Given the description of an element on the screen output the (x, y) to click on. 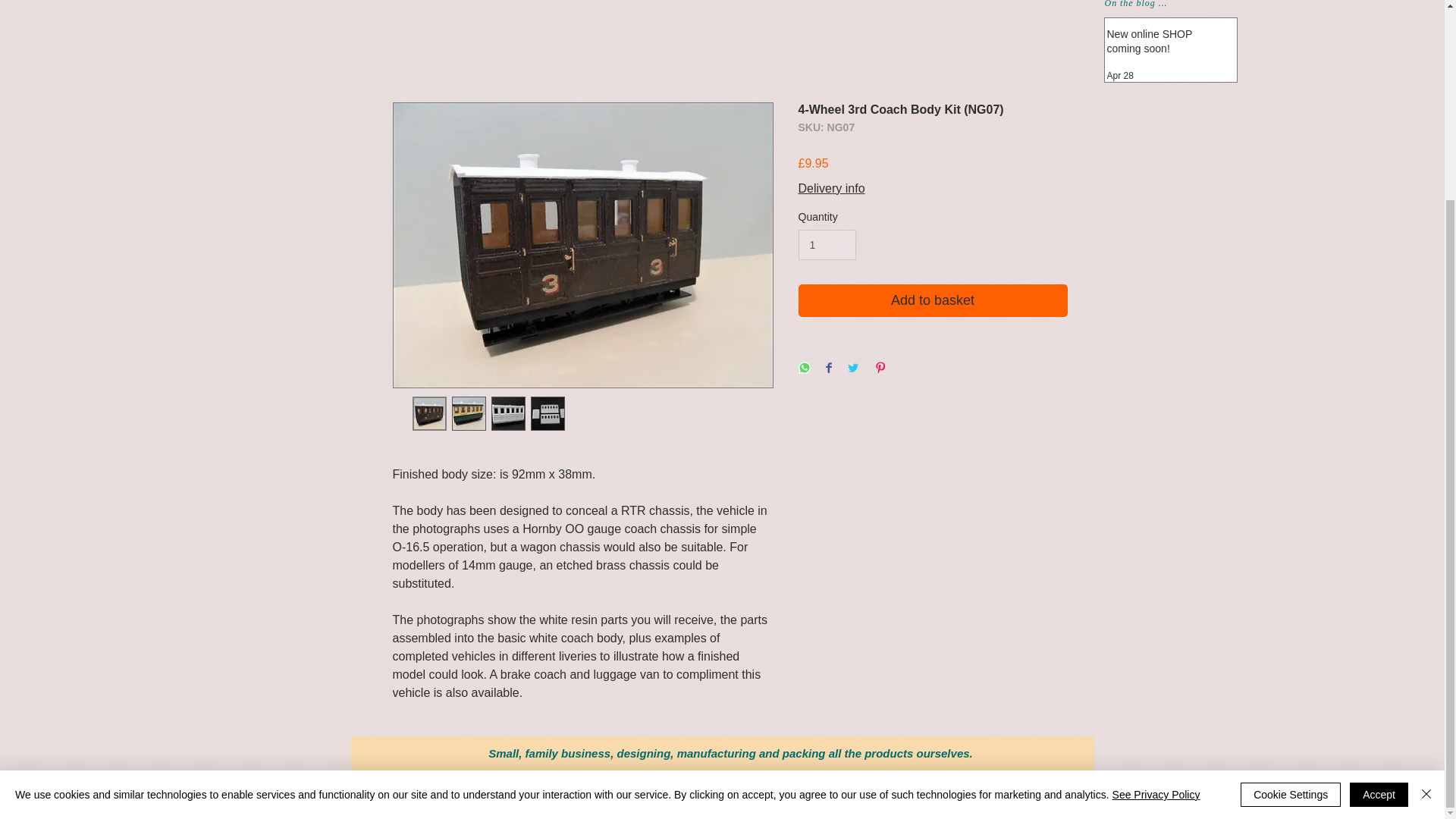
Terms and Conditions (715, 786)
Apr 28 (1120, 75)
Privacy Policy (501, 786)
Add to basket (932, 300)
See Privacy Policy (1155, 539)
New online SHOP coming soon! (1165, 45)
Contact Us (935, 785)
Delivery info (830, 188)
Cookie Settings (1290, 539)
1 (826, 245)
Accept (1378, 539)
